Given the description of an element on the screen output the (x, y) to click on. 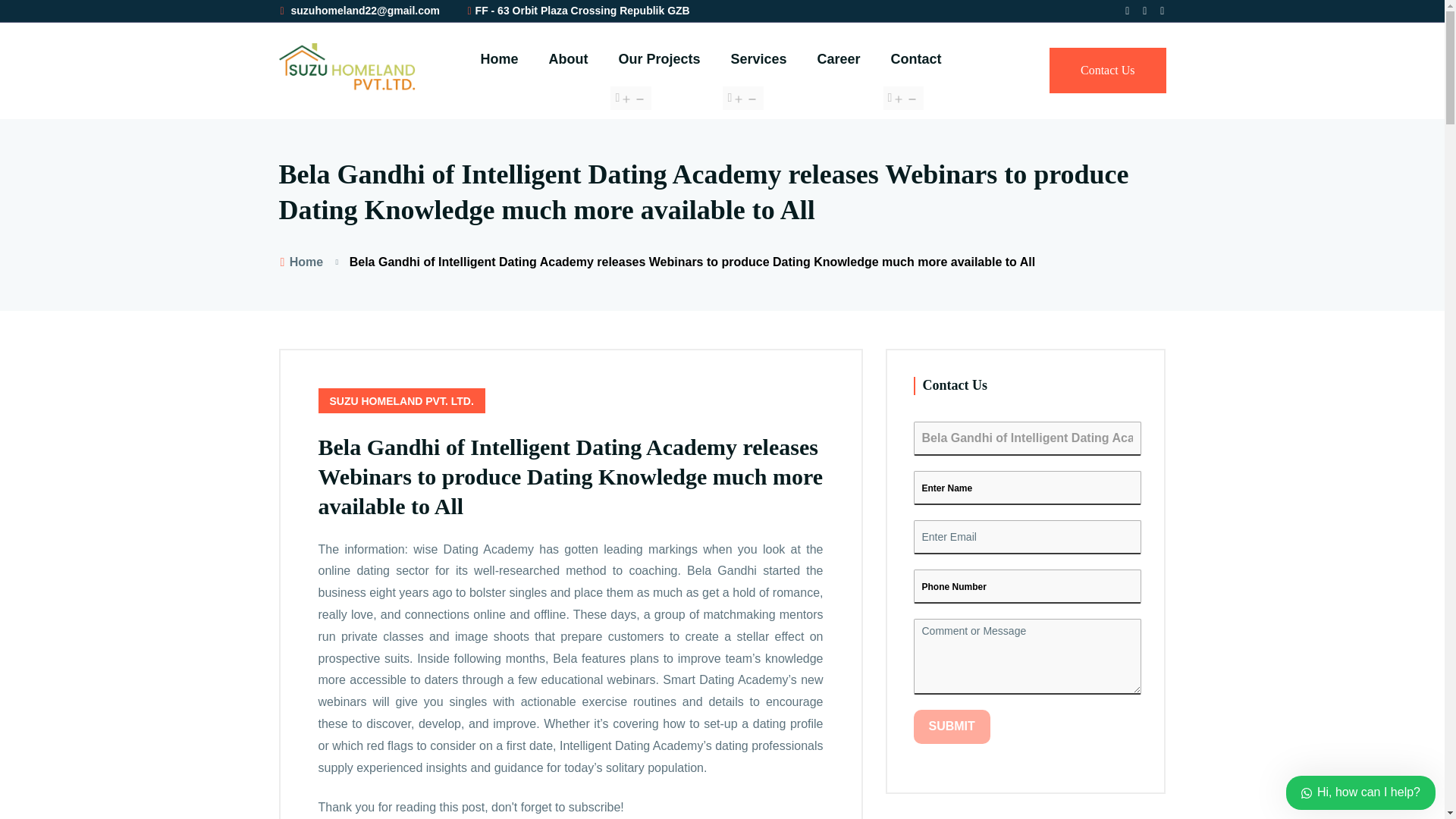
FF - 63 Orbit Plaza Crossing Republik GZB (576, 10)
SUBMIT (951, 726)
Services (757, 58)
Contact Us (1107, 70)
Home (498, 58)
Open menu (742, 97)
Open menu (903, 97)
Career (838, 58)
Contact (916, 58)
